Given the description of an element on the screen output the (x, y) to click on. 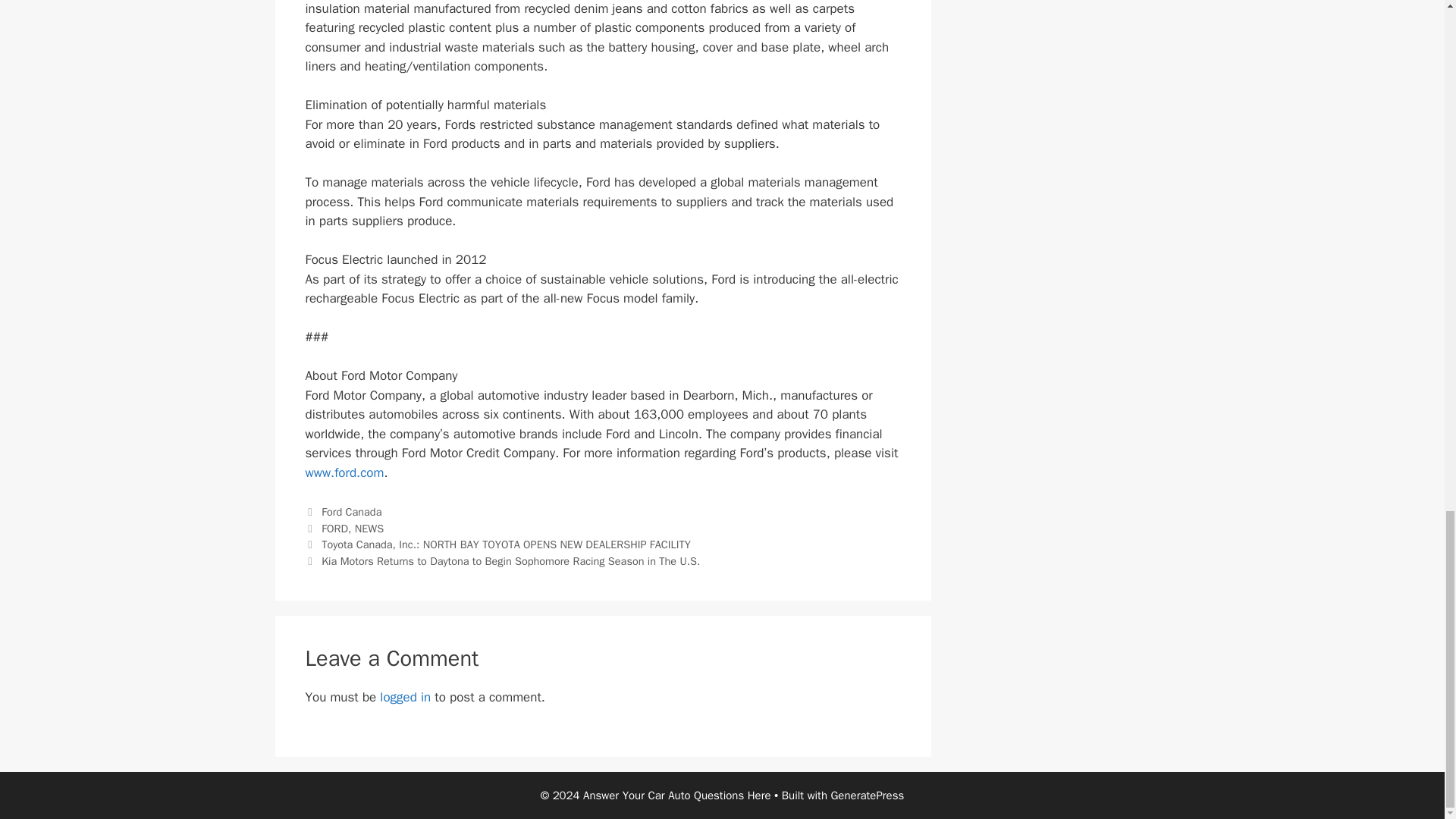
Scroll back to top (1406, 160)
Ford Canada (351, 511)
logged in (405, 697)
NEWS (369, 528)
FORD (334, 528)
www.ford.com (344, 472)
